Given the description of an element on the screen output the (x, y) to click on. 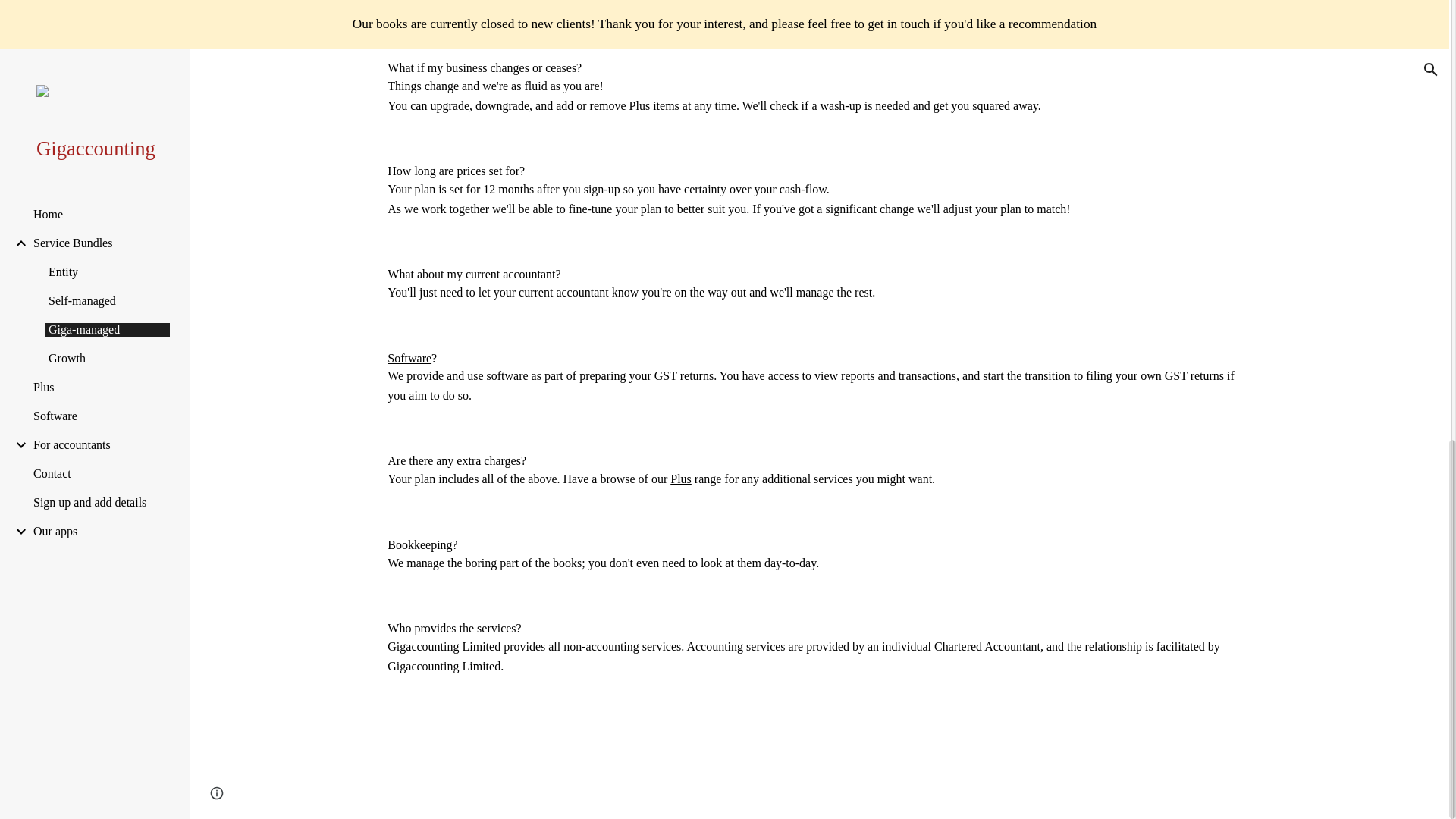
Contact (819, 772)
Software (408, 357)
Plus (680, 478)
